Given the description of an element on the screen output the (x, y) to click on. 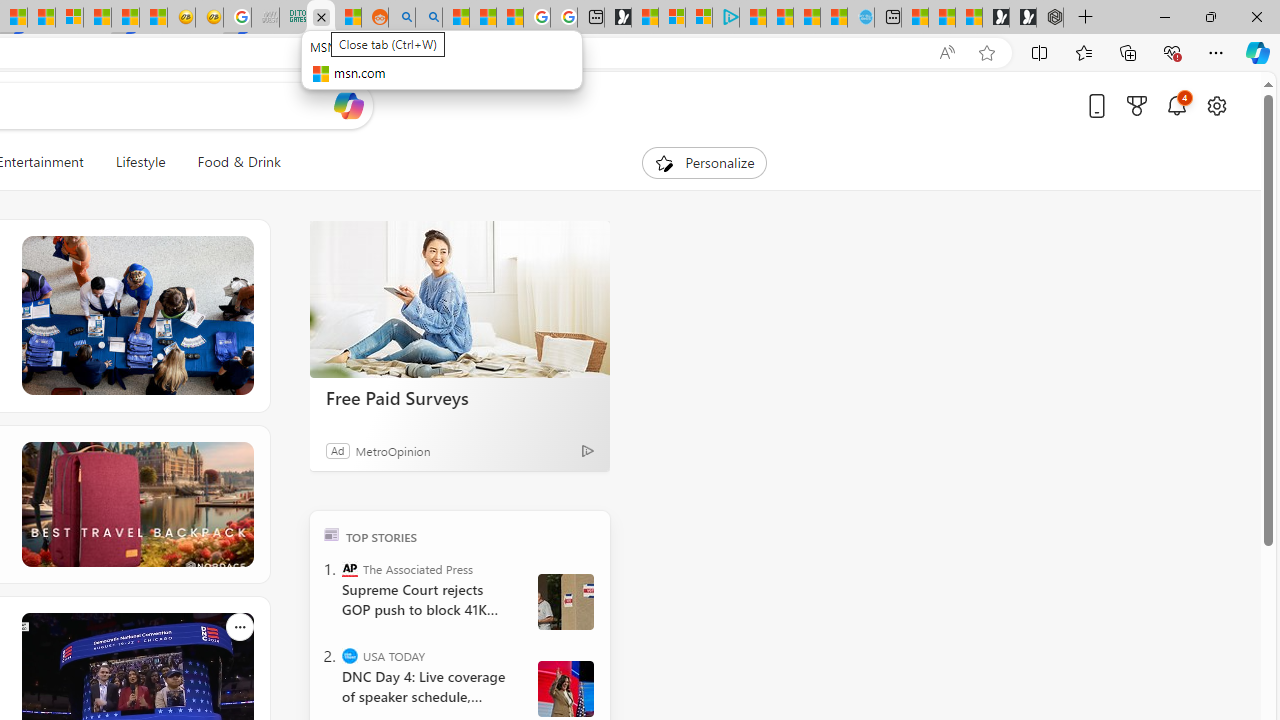
The Associated Press (349, 568)
